Given the description of an element on the screen output the (x, y) to click on. 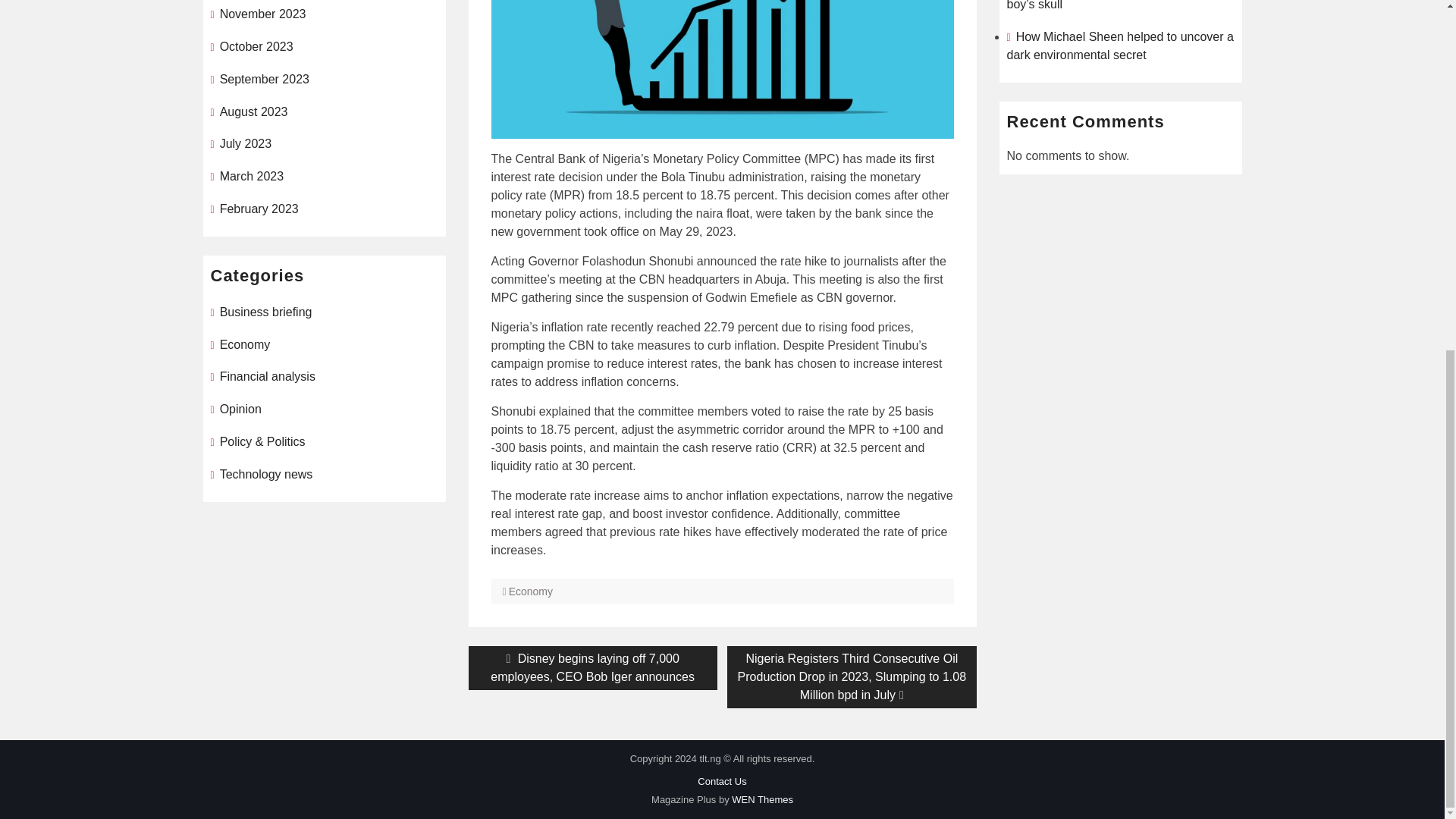
Economy (530, 591)
